Given the description of an element on the screen output the (x, y) to click on. 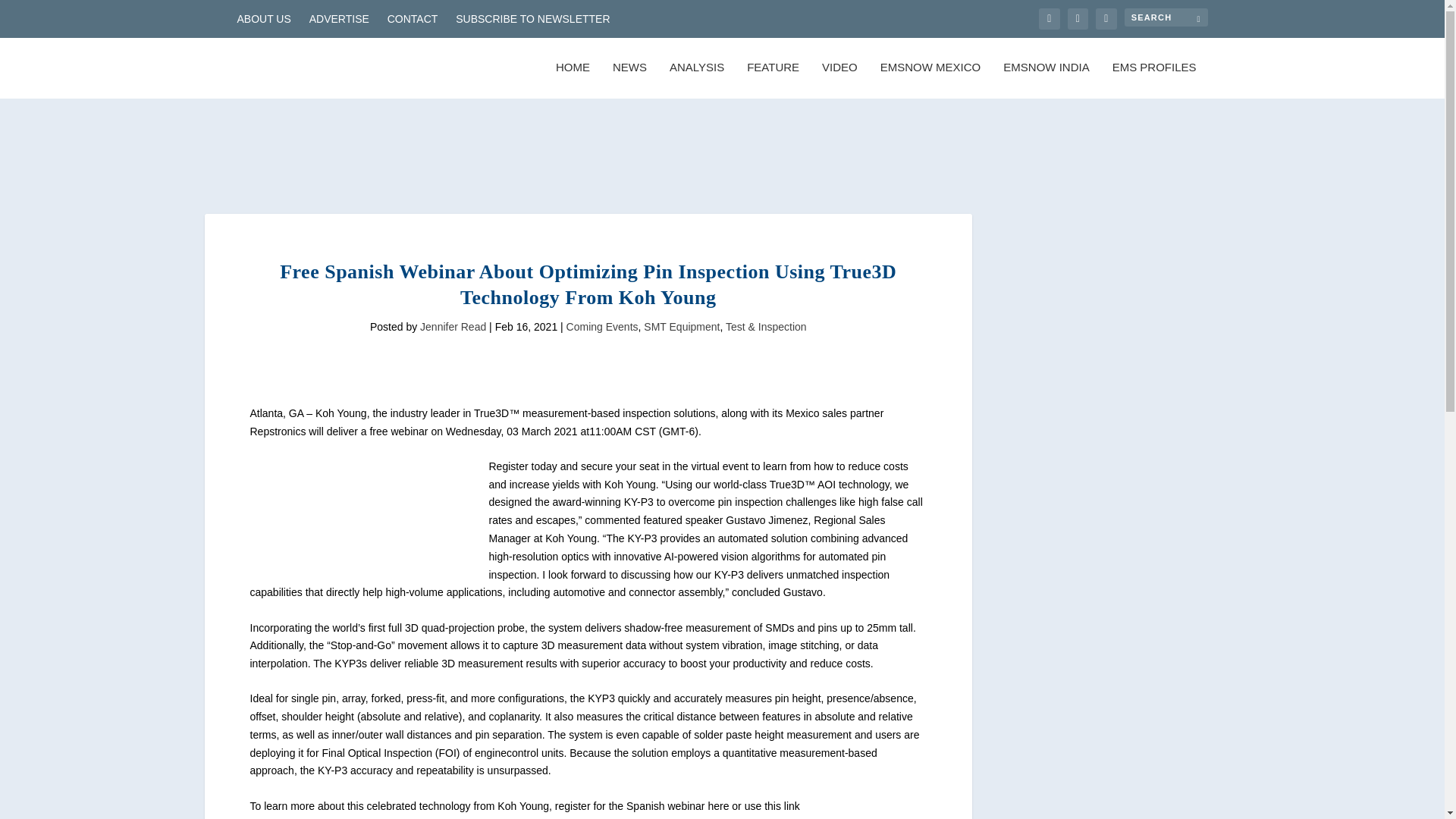
ABOUT US (262, 18)
ADVERTISE (338, 18)
EMSNOW INDIA (1046, 79)
SMT Equipment (681, 326)
Search for: (1165, 17)
NEWS (629, 79)
FEATURE (772, 79)
Posts by Jennifer Read (453, 326)
VIDEO (839, 79)
Jennifer Read (453, 326)
